Given the description of an element on the screen output the (x, y) to click on. 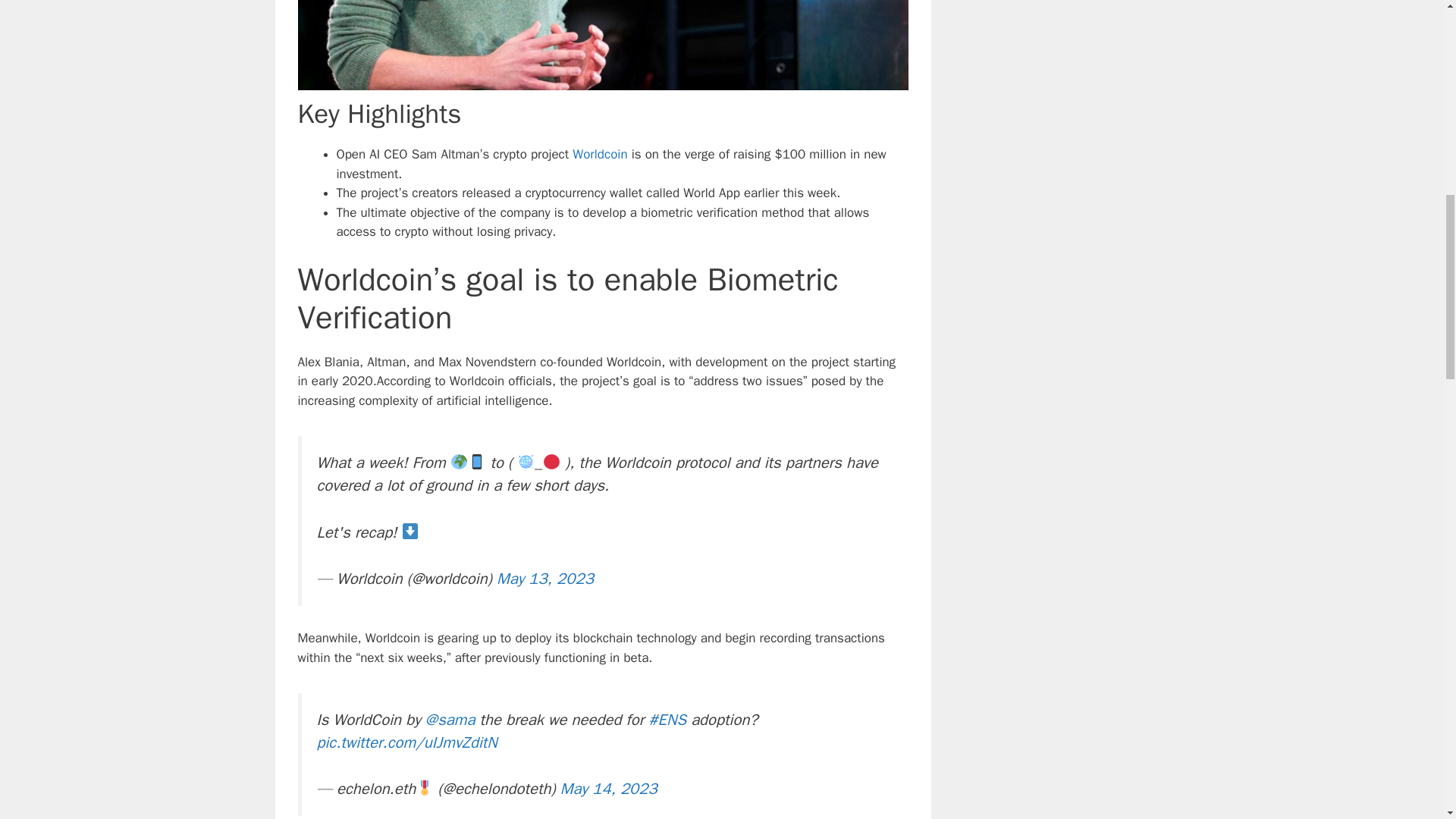
May 14, 2023 (609, 788)
May 13, 2023 (545, 578)
Worldcoin (599, 154)
